Given the description of an element on the screen output the (x, y) to click on. 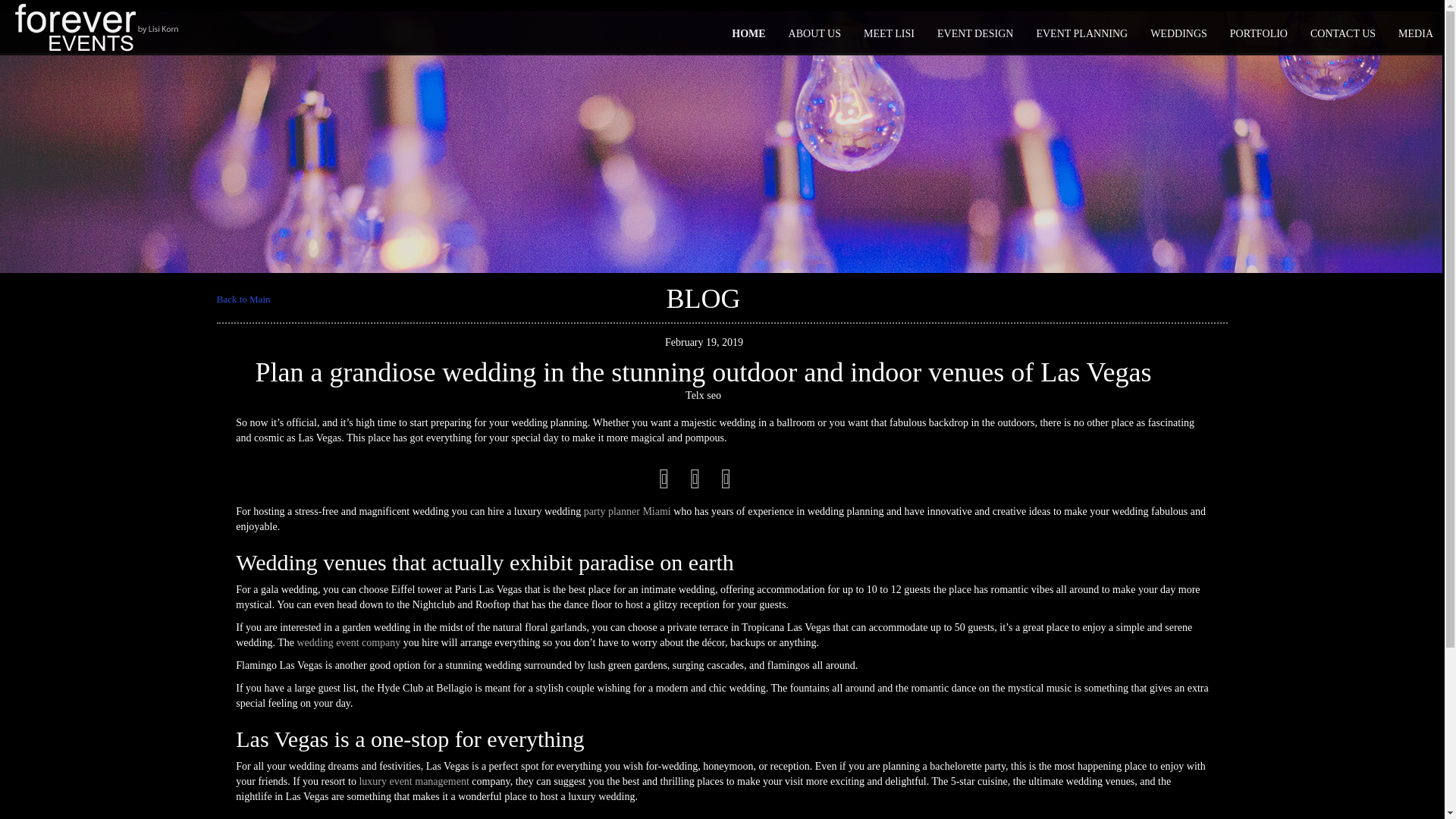
wedding event company (348, 642)
MEET LISI (888, 34)
WEDDINGS (1178, 34)
ABOUT US (814, 34)
luxury event management (413, 781)
Back to Main (243, 298)
EVENT PLANNING (1081, 34)
EVENT DESIGN (975, 34)
PORTFOLIO (1258, 34)
CONTACT US (1342, 34)
party planner Miami (627, 511)
HOME (748, 34)
